Given the description of an element on the screen output the (x, y) to click on. 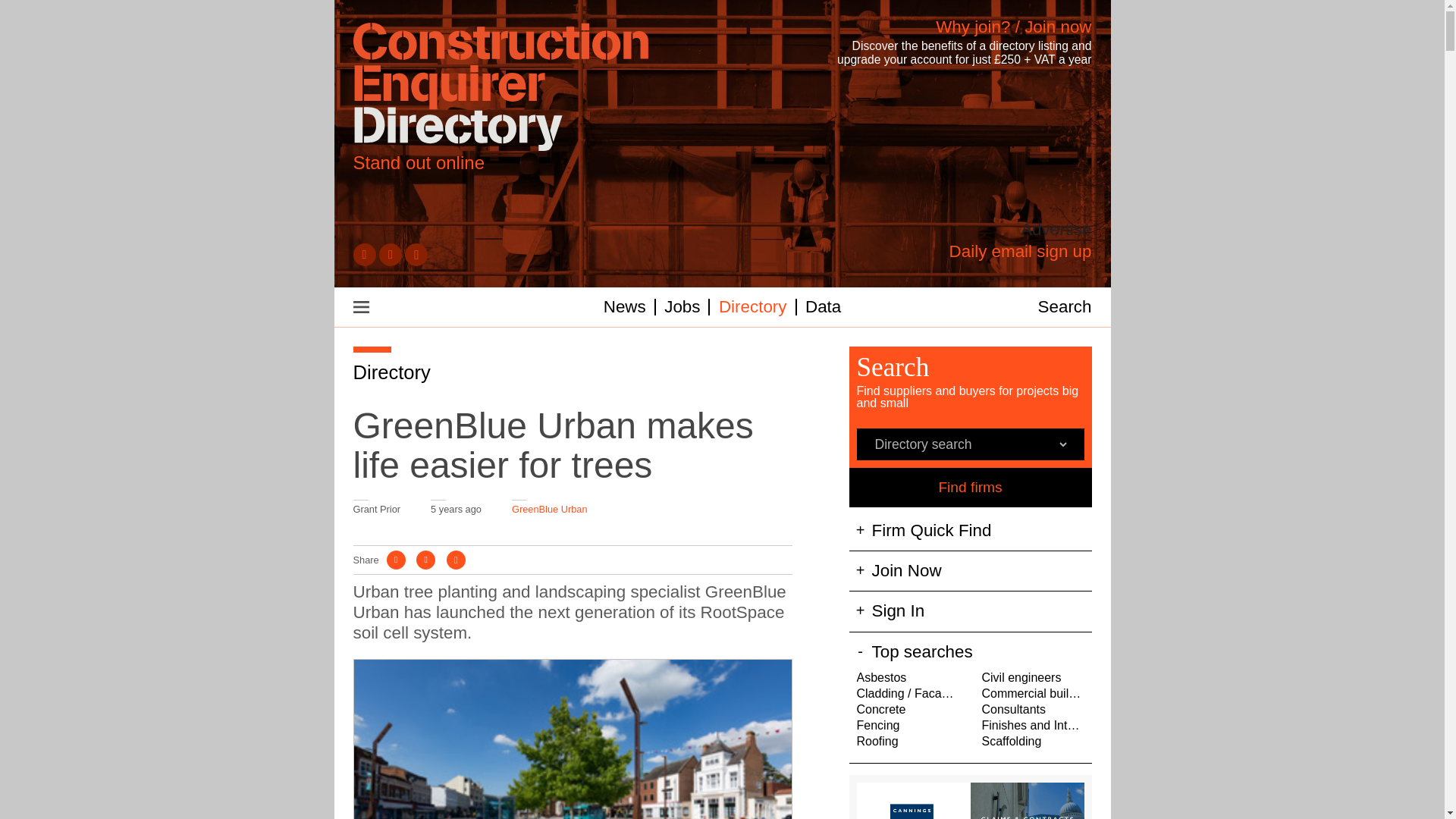
News (625, 306)
Construction Enquirer (500, 87)
Daily email sign up (1020, 251)
Directory (753, 306)
Jobs (681, 306)
Advertise (1055, 229)
Directory (391, 372)
Menu (361, 306)
GreenBlue Urban (550, 509)
Search (1065, 306)
Data (823, 306)
